Given the description of an element on the screen output the (x, y) to click on. 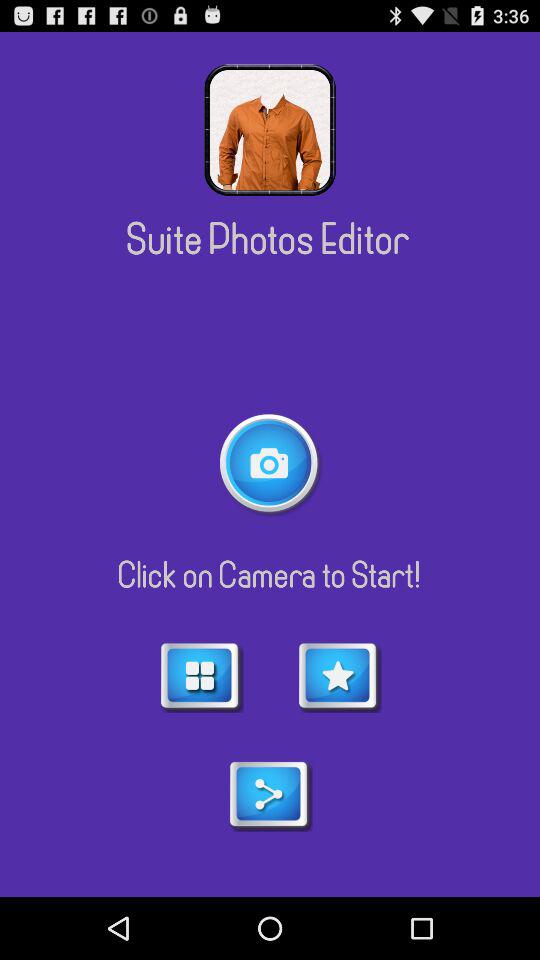
go to share menu (269, 795)
